Given the description of an element on the screen output the (x, y) to click on. 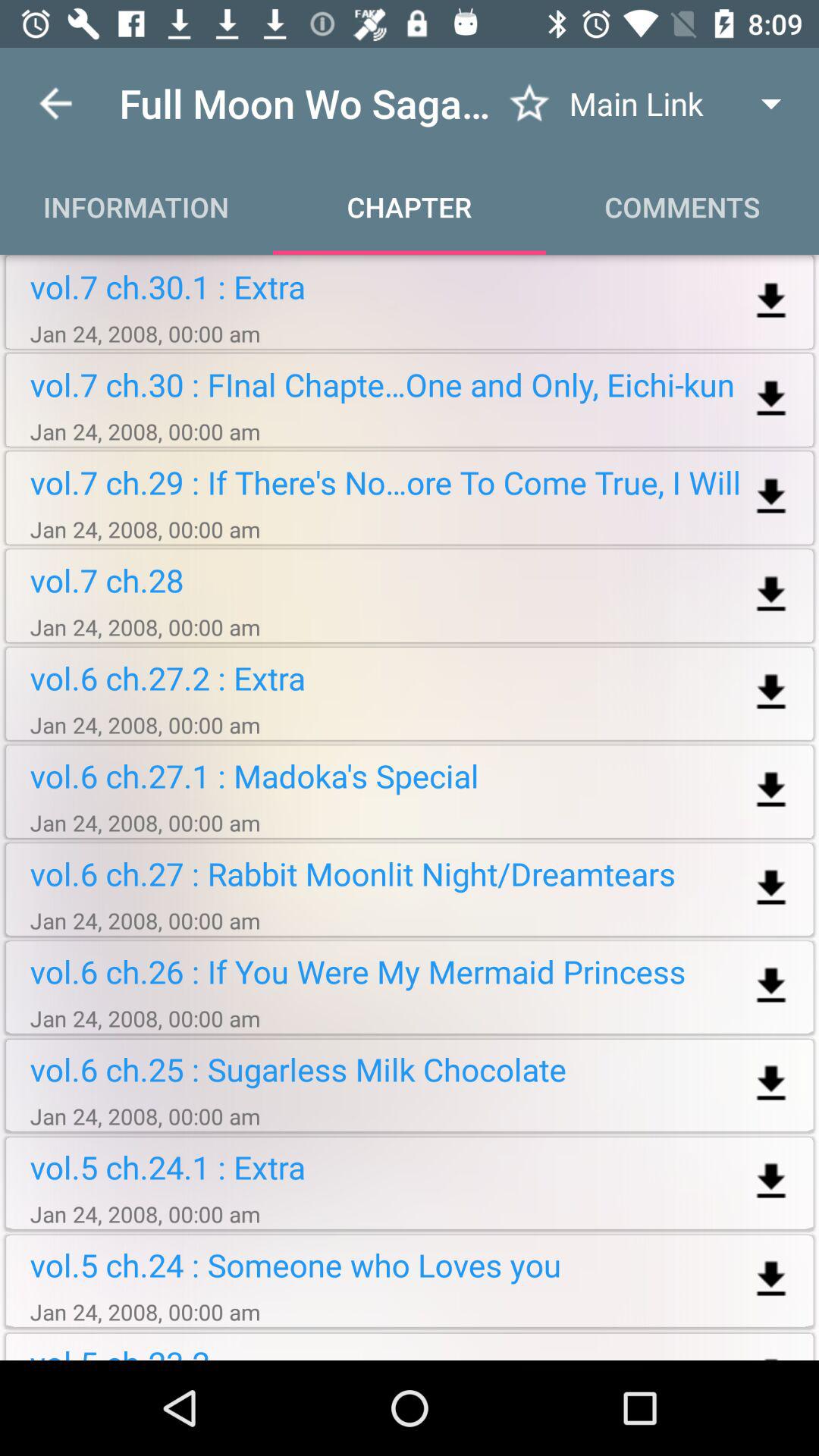
download button (771, 1279)
